Given the description of an element on the screen output the (x, y) to click on. 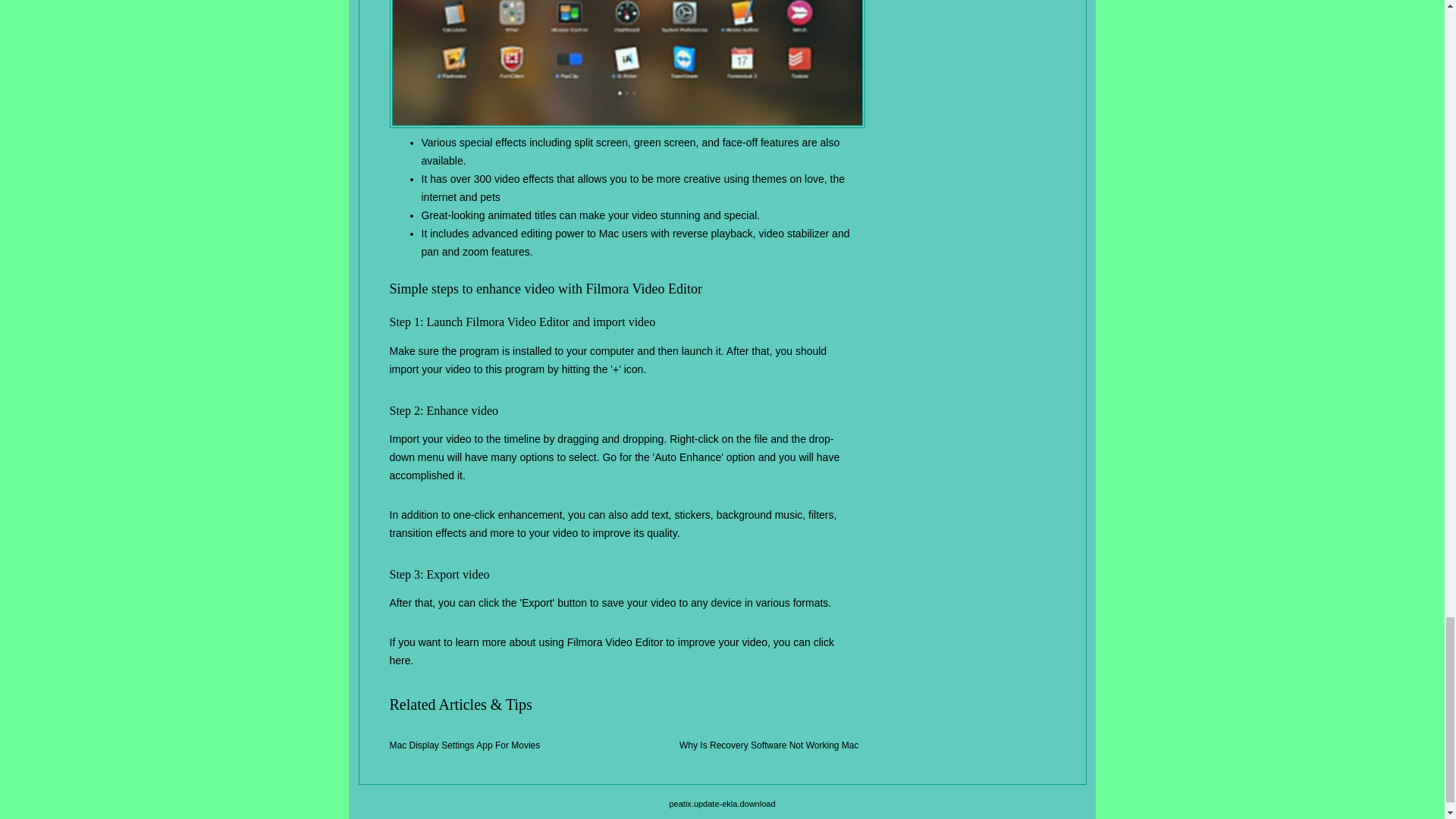
App (627, 63)
Why Is Recovery Software Not Working Mac (769, 745)
peatix.update-ekla.download (721, 803)
Mac Display Settings App For Movies (465, 745)
